Given the description of an element on the screen output the (x, y) to click on. 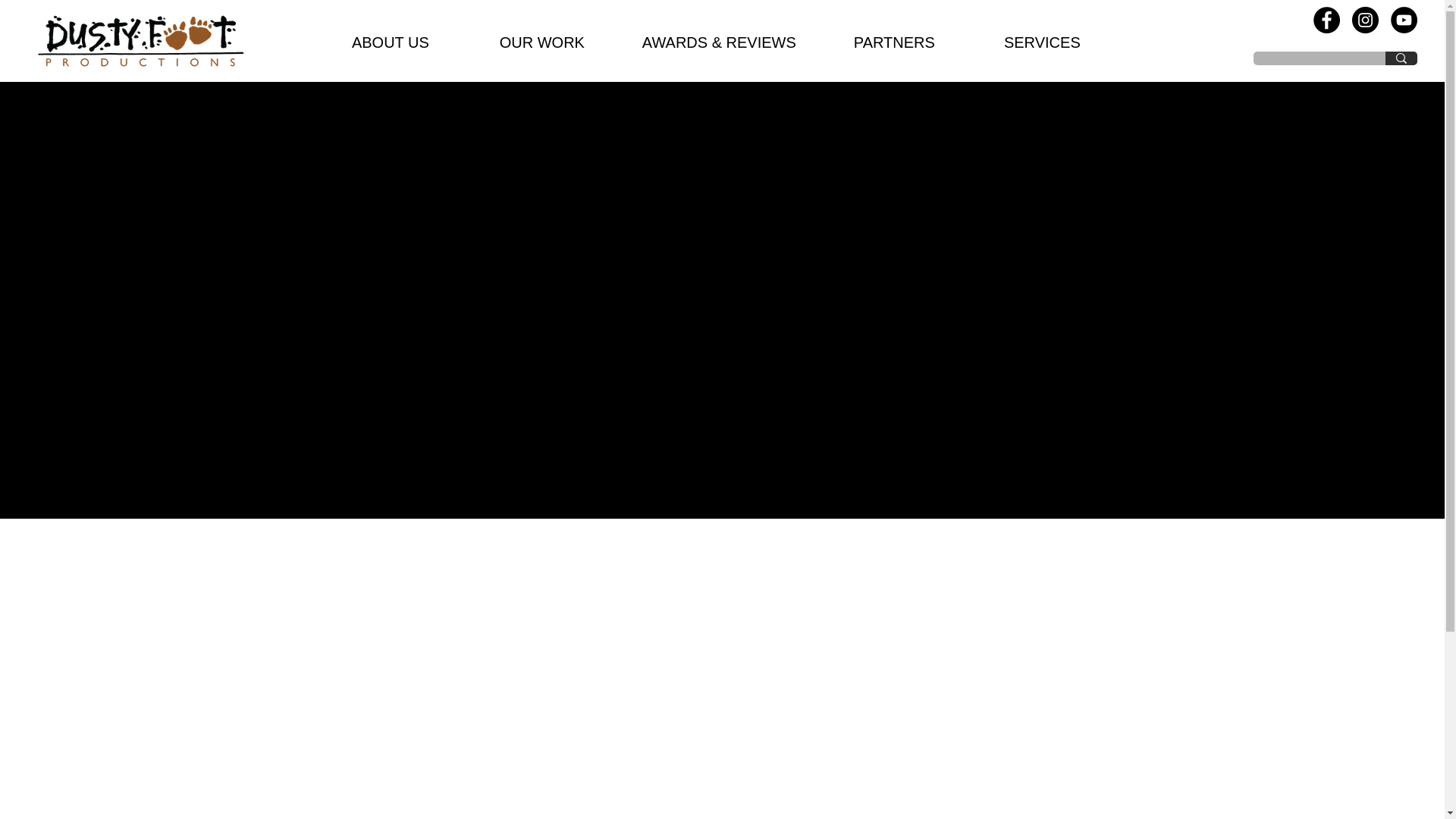
ABOUT US (389, 42)
SERVICES (1042, 42)
PARTNERS (893, 42)
OUR WORK (541, 42)
